Given the description of an element on the screen output the (x, y) to click on. 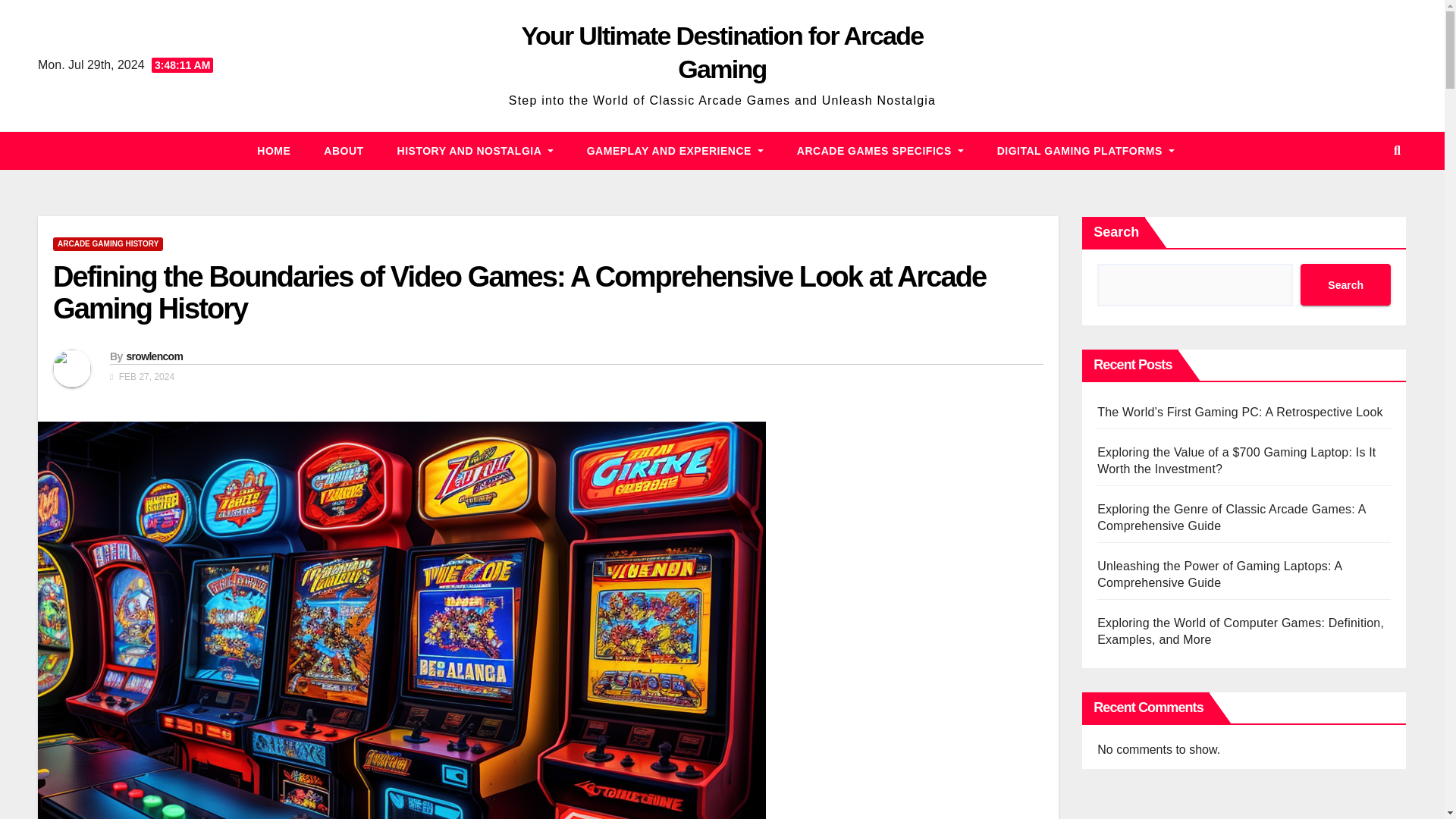
History and Nostalgia (475, 150)
Arcade Games Specifics (879, 150)
Your Ultimate Destination for Arcade Gaming (722, 52)
ARCADE GAMING HISTORY (107, 243)
ARCADE GAMES SPECIFICS (879, 150)
ABOUT (343, 150)
HISTORY AND NOSTALGIA (475, 150)
srowlencom (154, 356)
DIGITAL GAMING PLATFORMS (1085, 150)
Home (273, 150)
HOME (273, 150)
Gameplay and Experience (675, 150)
GAMEPLAY AND EXPERIENCE (675, 150)
About (343, 150)
